Given the description of an element on the screen output the (x, y) to click on. 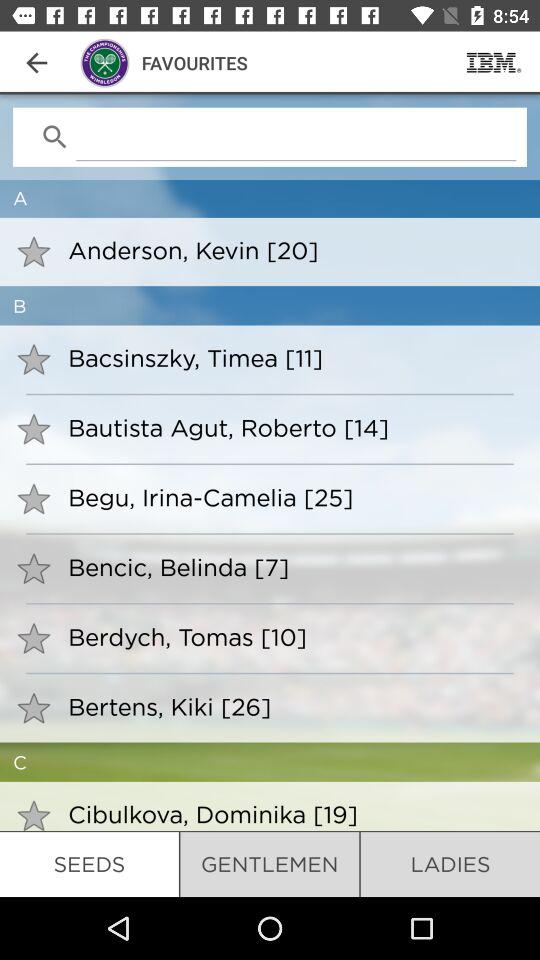
swipe until berdych, tomas [10] icon (290, 636)
